Given the description of an element on the screen output the (x, y) to click on. 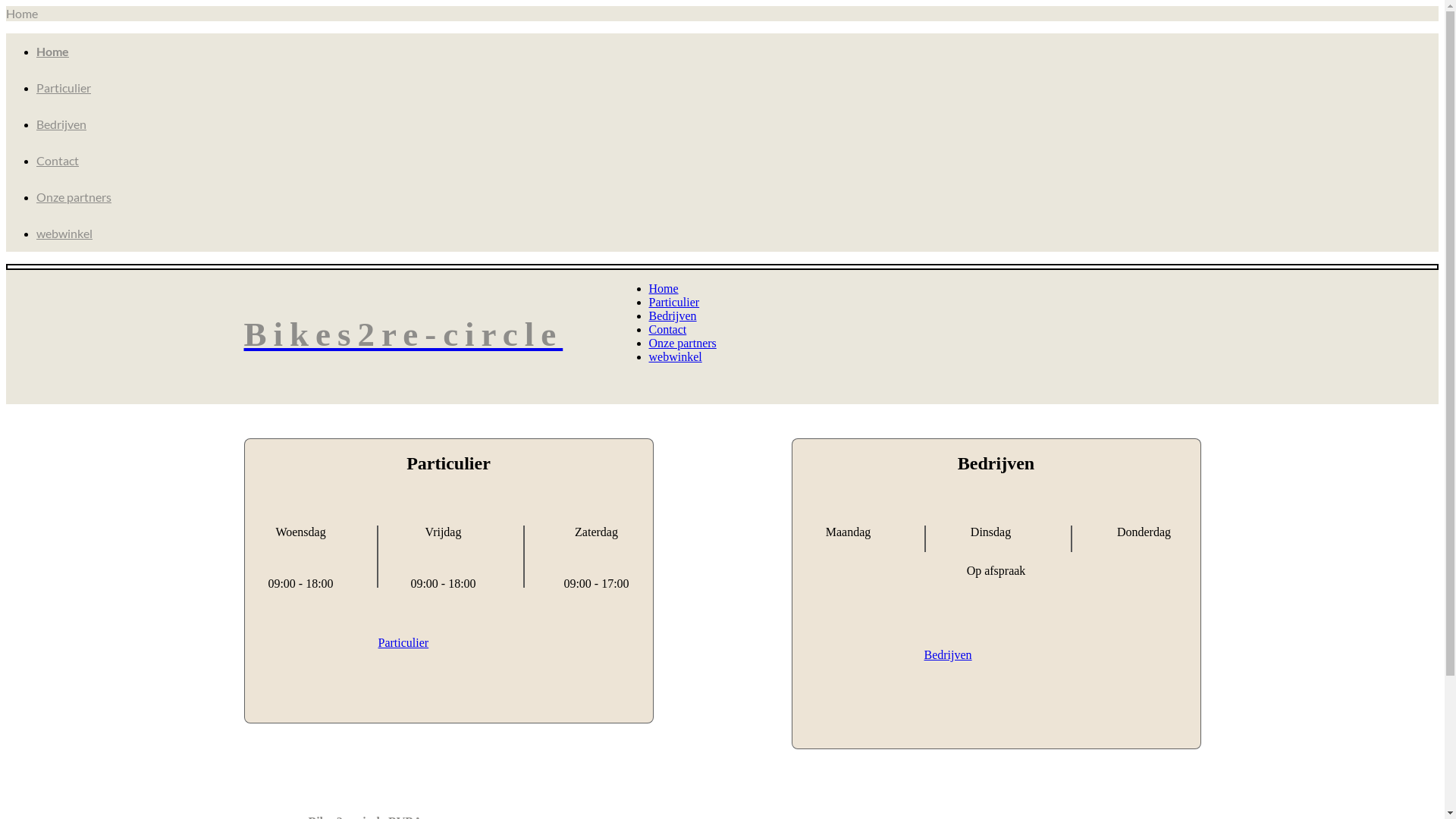
Contact Element type: text (668, 329)
Onze partners Element type: text (73, 196)
Particulier Element type: text (63, 87)
Particulier Element type: text (674, 301)
Home Element type: text (52, 50)
Bedrijven Element type: text (61, 123)
Bedrijven Element type: text (672, 315)
Onze partners Element type: text (682, 342)
webwinkel Element type: text (675, 356)
webwinkel Element type: text (64, 232)
Particulier Element type: text (402, 642)
Bikes2re-circle Element type: text (403, 334)
Bedrijven Element type: text (947, 654)
Home Element type: text (663, 288)
Contact Element type: text (57, 160)
